Given the description of an element on the screen output the (x, y) to click on. 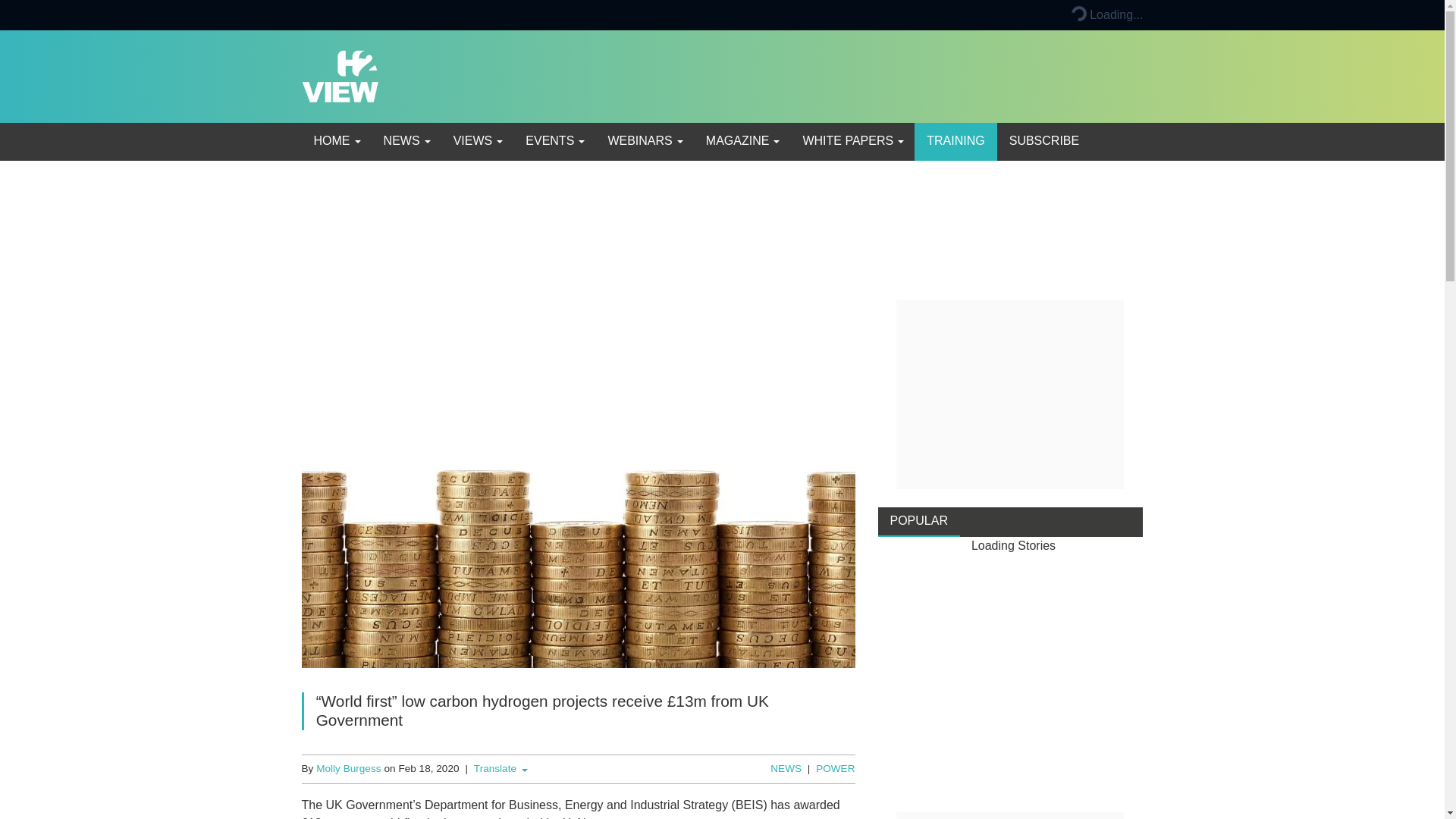
HOME (336, 140)
Home (336, 140)
VIEWS (477, 140)
News (406, 140)
NEWS (406, 140)
H2 View (339, 74)
